Given the description of an element on the screen output the (x, y) to click on. 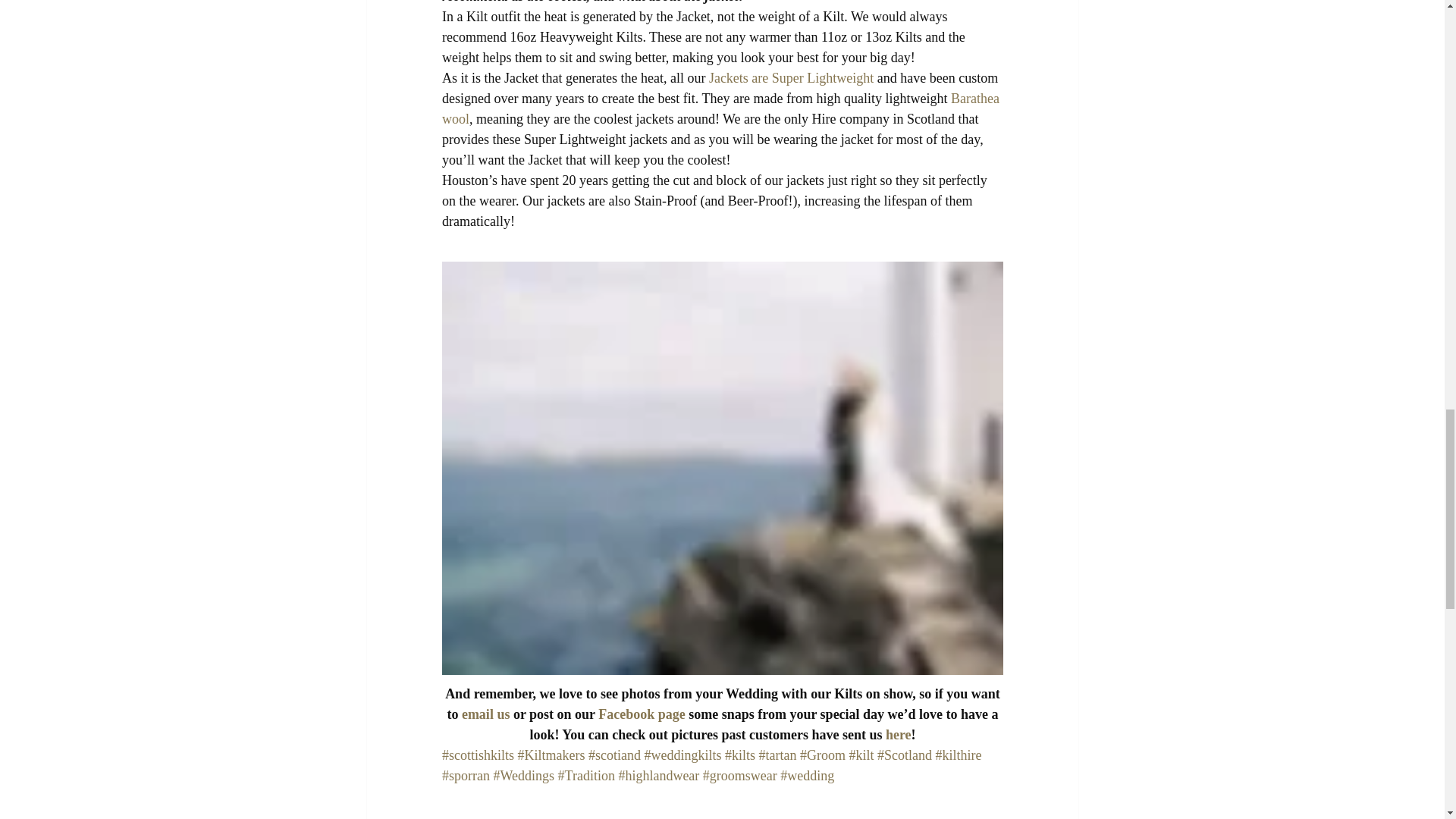
Jackets are Super Lightweight (789, 77)
email us (485, 713)
 Facebook page  (641, 713)
here (898, 734)
Barathea wool (721, 108)
